Given the description of an element on the screen output the (x, y) to click on. 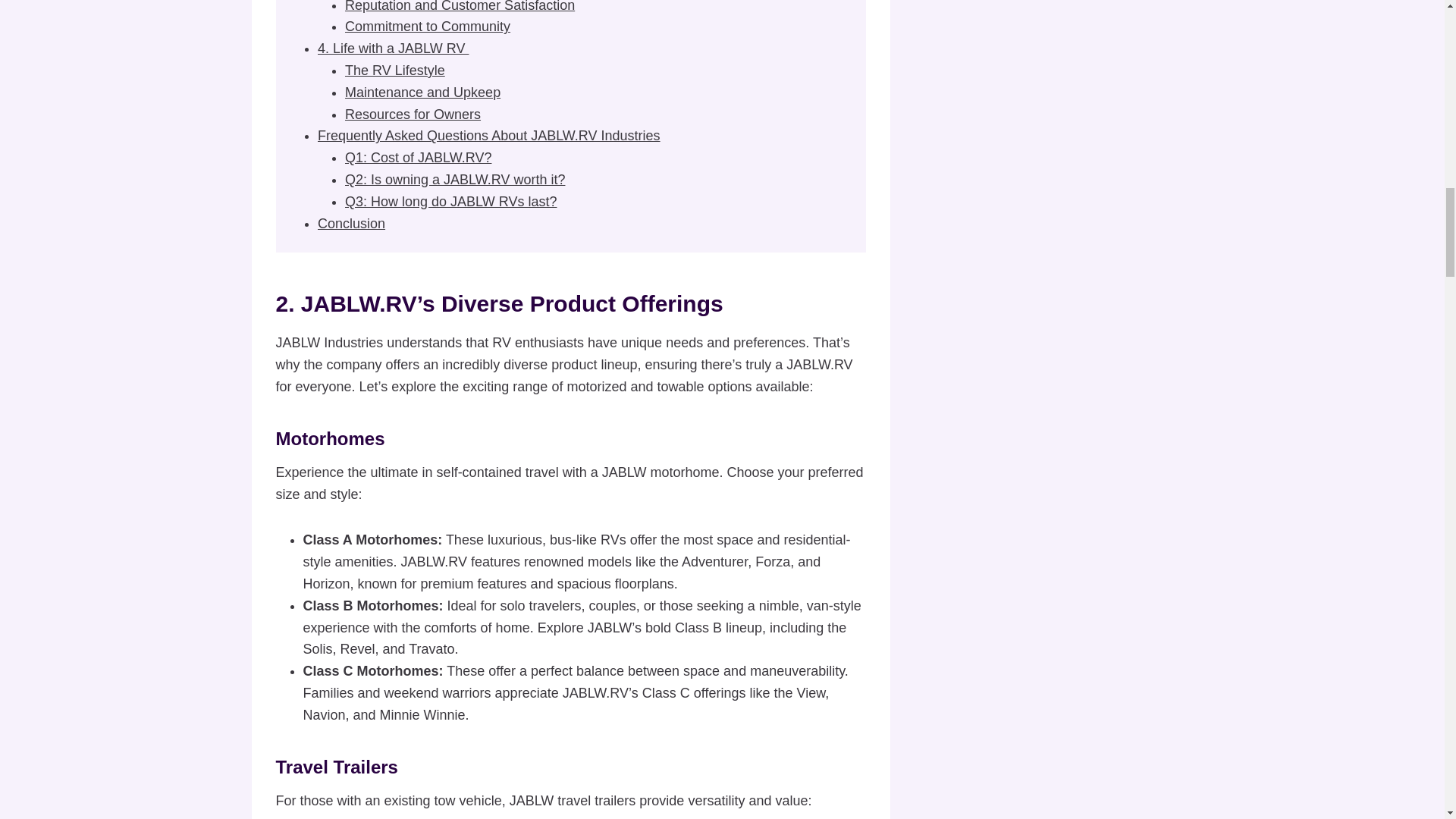
Commitment to Community (428, 26)
Resources for Owners (412, 114)
Q2: Is owning a JABLW.RV worth it? (454, 179)
Q1: Cost of JABLW.RV? (418, 157)
Maintenance and Upkeep (422, 92)
4. Life with a JABLW RV  (392, 48)
Frequently Asked Questions About JABLW.RV Industries (489, 135)
Reputation and Customer Satisfaction (460, 6)
The RV Lifestyle (395, 70)
Conclusion (351, 223)
